Given the description of an element on the screen output the (x, y) to click on. 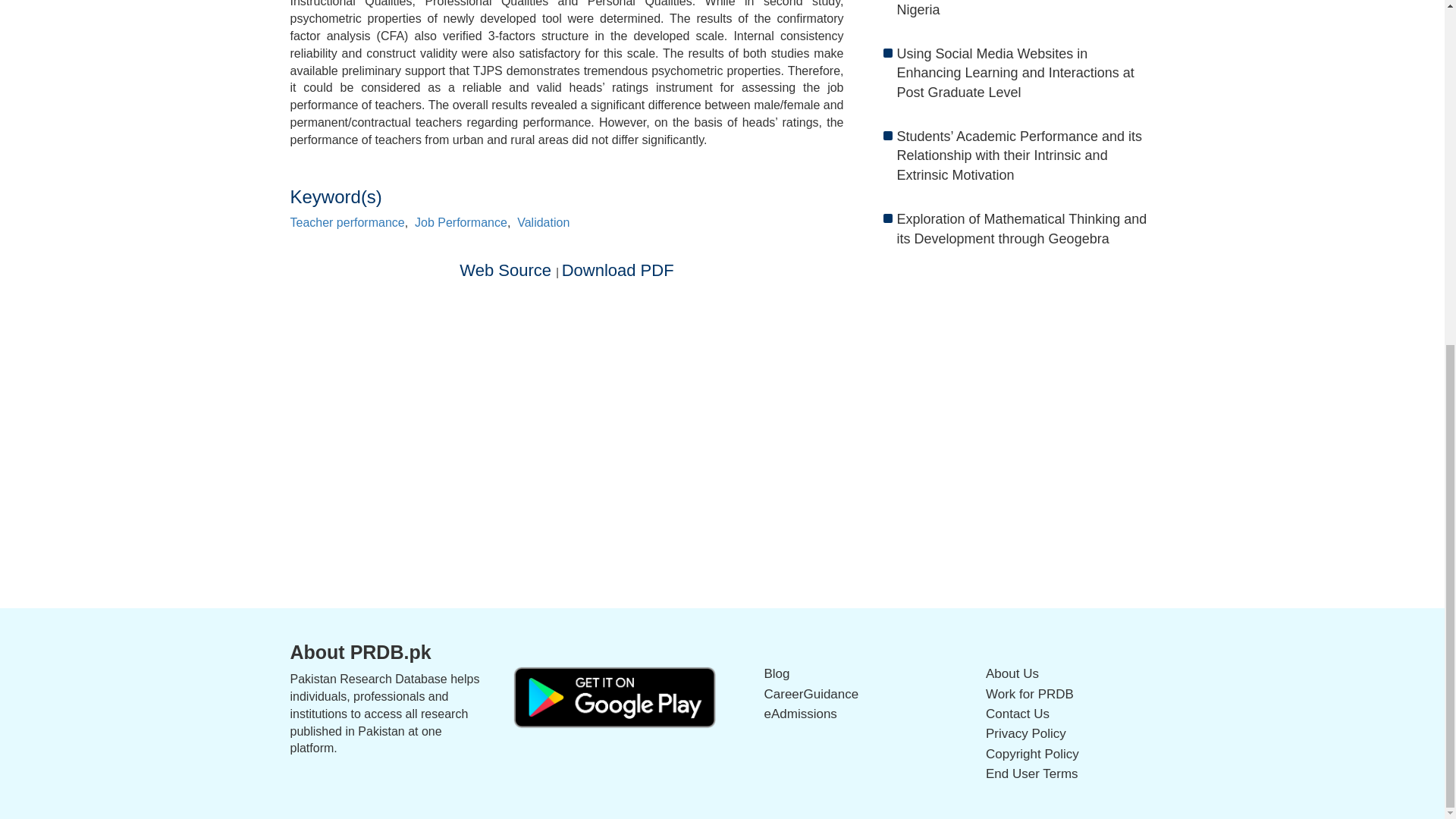
Download PDF (618, 270)
Teacher performance (346, 222)
Job Performance (460, 222)
Privacy Policy (1025, 733)
Blog (777, 673)
Web Source (508, 270)
Work for PRDB (1029, 694)
End User Terms (1031, 773)
About Us (1012, 673)
